Given the description of an element on the screen output the (x, y) to click on. 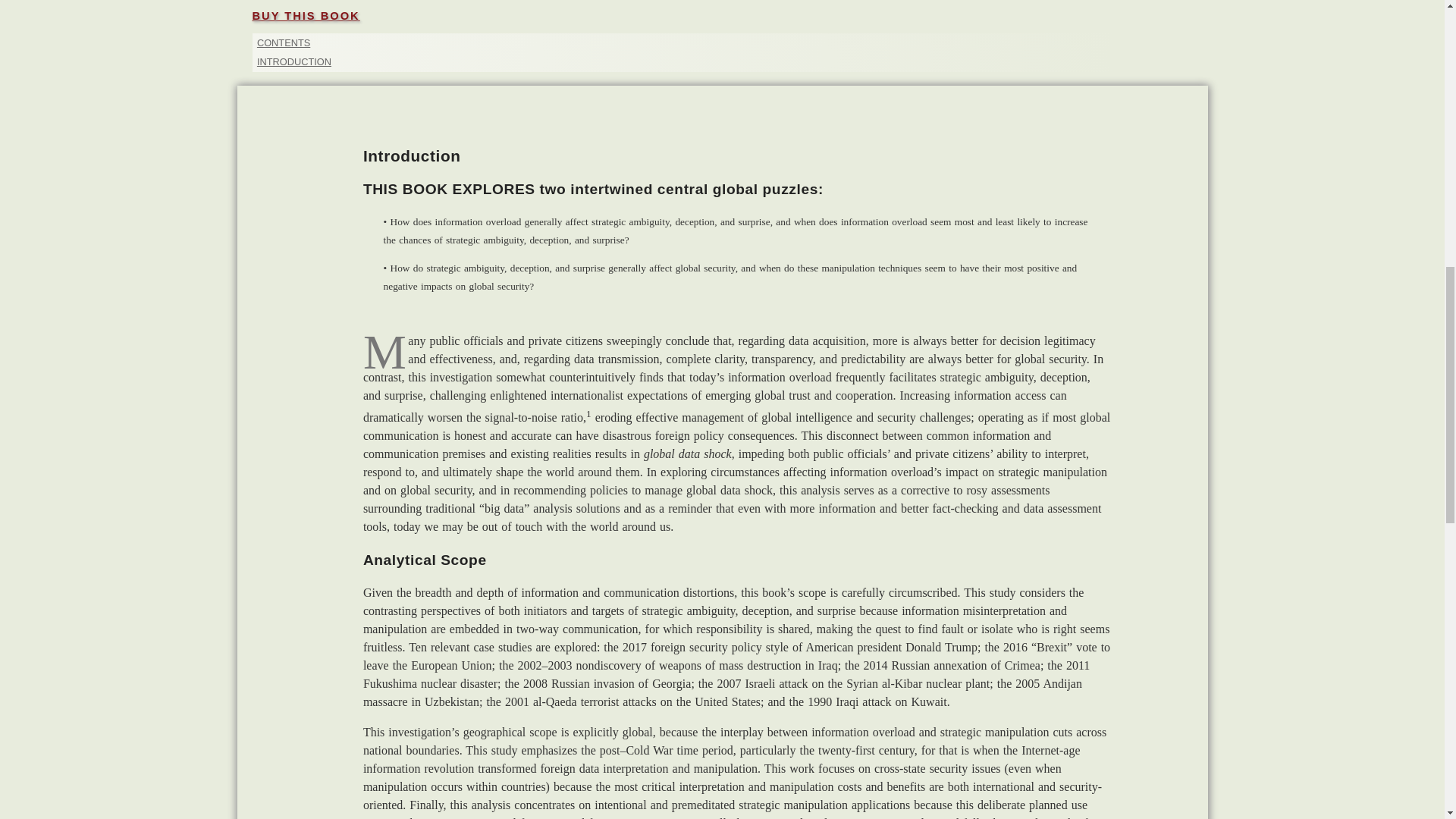
INTRODUCTION (294, 61)
BUY THIS BOOK (305, 15)
CONTENTS (283, 42)
